Given the description of an element on the screen output the (x, y) to click on. 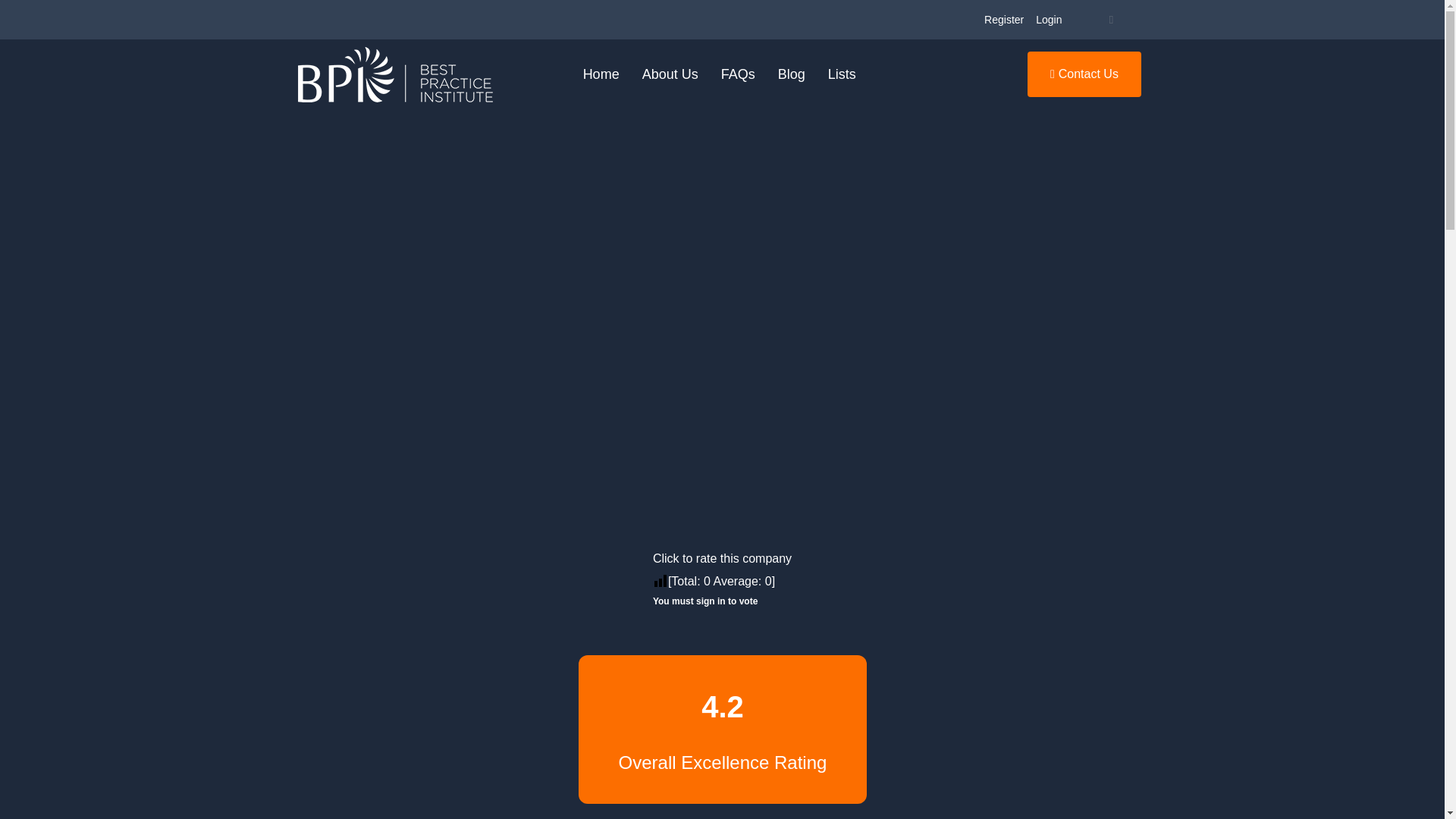
Home (601, 74)
Lists (841, 74)
Blog (791, 74)
About Us (670, 74)
Register (1003, 19)
Cart (1110, 19)
FAQs (738, 74)
Login (1048, 19)
Contact Us (1084, 74)
